Given the description of an element on the screen output the (x, y) to click on. 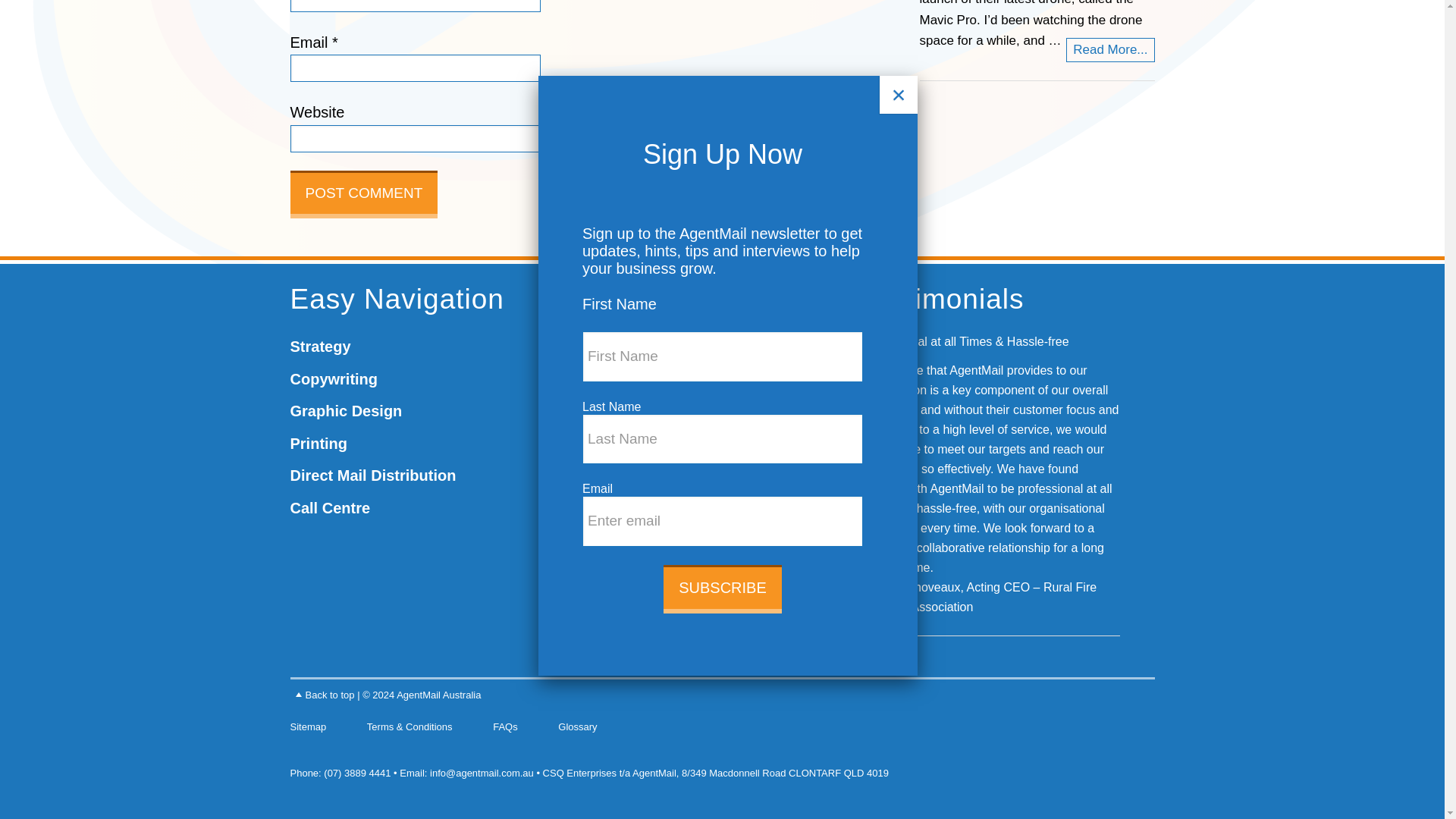
Read More... (1109, 49)
Post Comment (363, 194)
